Given the description of an element on the screen output the (x, y) to click on. 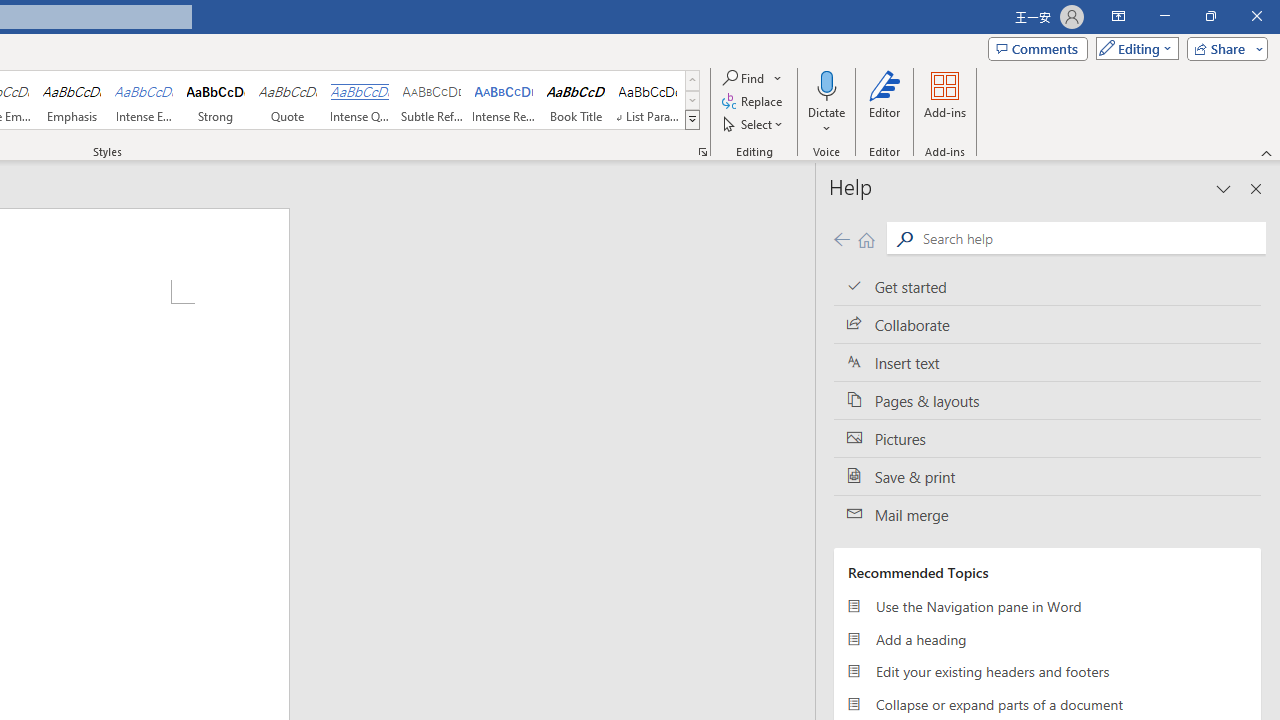
Book Title (575, 100)
Intense Quote (359, 100)
Mail merge (1047, 515)
Emphasis (71, 100)
Subtle Reference (431, 100)
Edit your existing headers and footers (1047, 672)
